Given the description of an element on the screen output the (x, y) to click on. 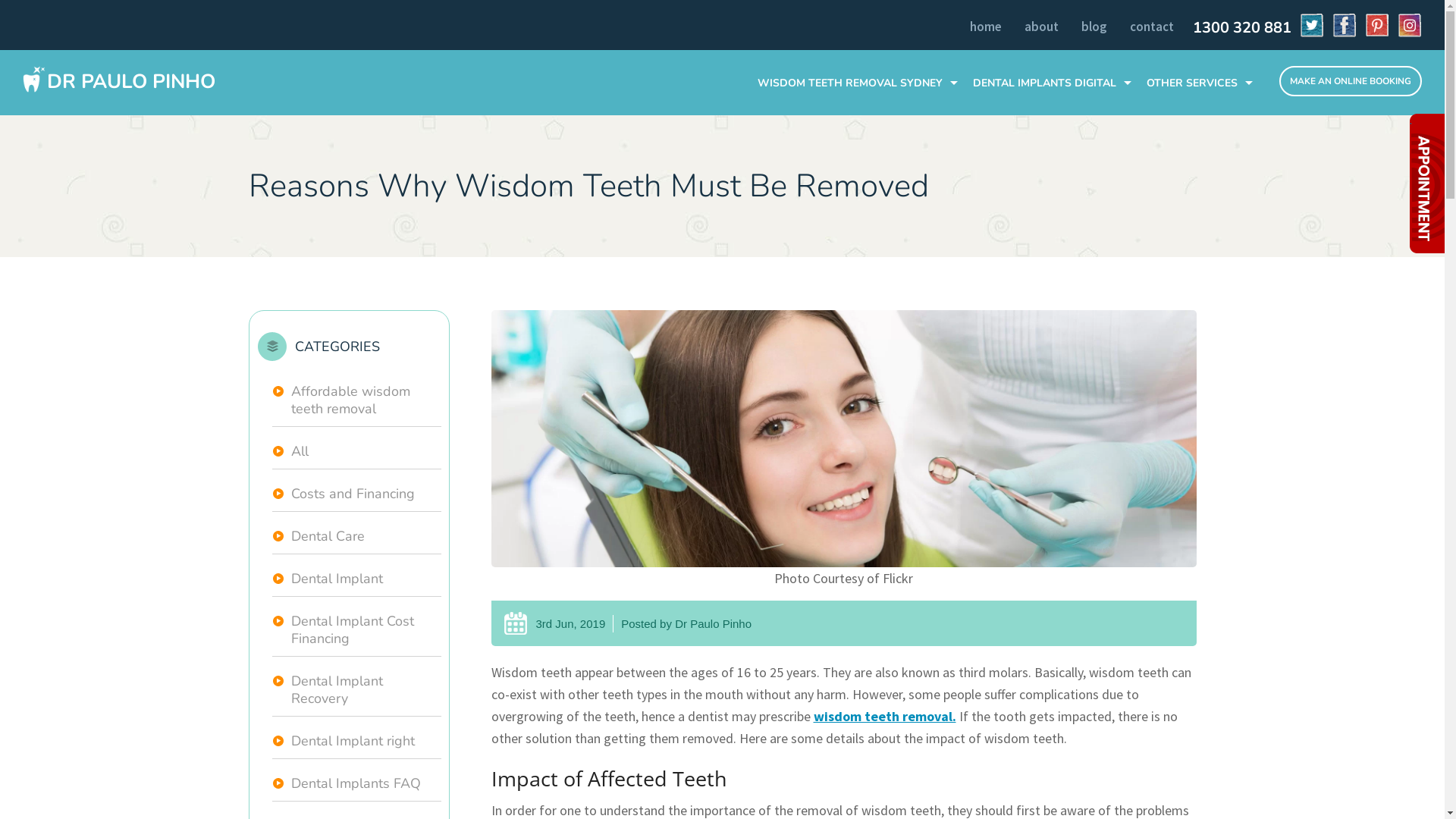
WISDOM TEETH AFTERCARE TIPS Element type: text (861, 111)
MELBOURNE CLINIC Element type: text (1203, 195)
home Element type: text (985, 26)
1300 320 881 Element type: text (1238, 27)
blog Element type: text (1094, 26)
All Element type: text (356, 451)
FAQS Element type: text (861, 167)
Visit Us On Twitter Element type: hover (1307, 24)
Dental Implant right Element type: text (356, 741)
Wisdom Teeth removal Element type: hover (843, 438)
ALL TEETH ON 4 DENTAL IMPLANTS Element type: text (1203, 167)
Visit Us On Facebook Element type: hover (1340, 24)
Dr Paulo Pinho Element type: text (712, 623)
Dental Implant Element type: text (356, 578)
about Element type: text (1041, 26)
Visit Us On Pinterest Element type: hover (1372, 24)
wisdom teeth removal. Element type: text (883, 715)
contact Element type: text (1151, 26)
MAKE AN ONLINE BOOKING Element type: text (1350, 80)
FAQS Element type: text (1055, 167)
SLEEP DENTISTRY Element type: text (1203, 139)
COSTS & FINANCING Element type: text (1055, 111)
Visit Us On Instagram Element type: hover (1405, 24)
COSTS & FINANCING Element type: text (861, 139)
blog Element type: text (1094, 26)
DR PAULO PINHO Element type: text (118, 79)
Dental Implant Recovery Element type: text (356, 690)
Dental Implants FAQ Element type: text (356, 783)
home Element type: text (985, 26)
DENTAL IMPLANT GUIDE Element type: text (1055, 139)
TOOTH EXTRACTIONS Element type: text (1203, 111)
INVISIBLE BRACES Element type: text (1203, 223)
Dental Implant Cost Financing Element type: text (356, 630)
contact Element type: text (1151, 26)
Costs and Financing Element type: text (356, 493)
Dental Care Element type: text (356, 536)
about Element type: text (1041, 26)
Affordable wisdom teeth removal Element type: text (356, 400)
